Given the description of an element on the screen output the (x, y) to click on. 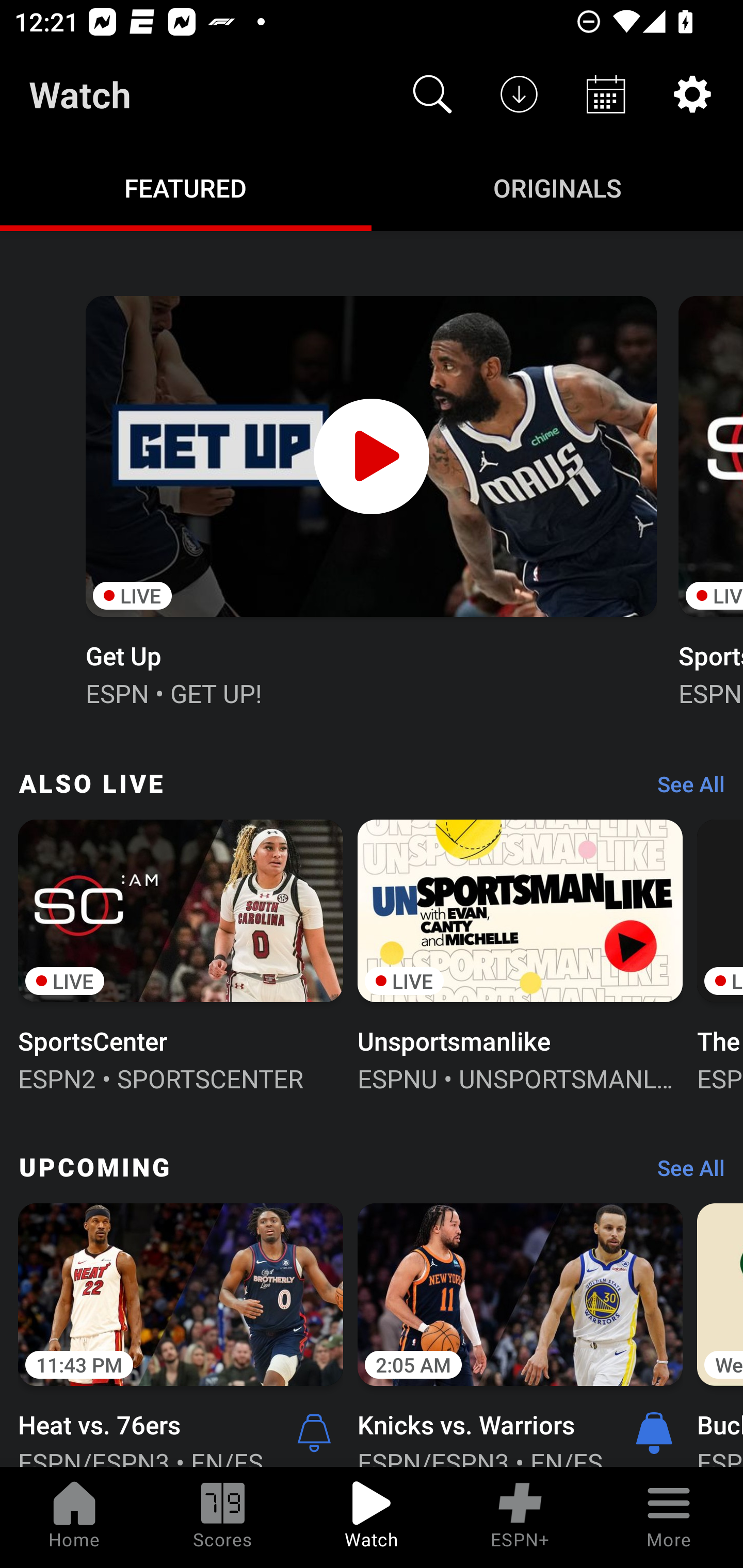
Search (432, 93)
Downloads (518, 93)
Schedule (605, 93)
Settings (692, 93)
Originals ORIGINALS (557, 187)
 LIVE Get Up ESPN • GET UP! (370, 499)
See All (683, 788)
LIVE SportsCenter ESPN2 • SPORTSCENTER (180, 954)
See All (683, 1172)
Alerts (314, 1432)
Home (74, 1517)
Scores (222, 1517)
ESPN+ (519, 1517)
More (668, 1517)
